Given the description of an element on the screen output the (x, y) to click on. 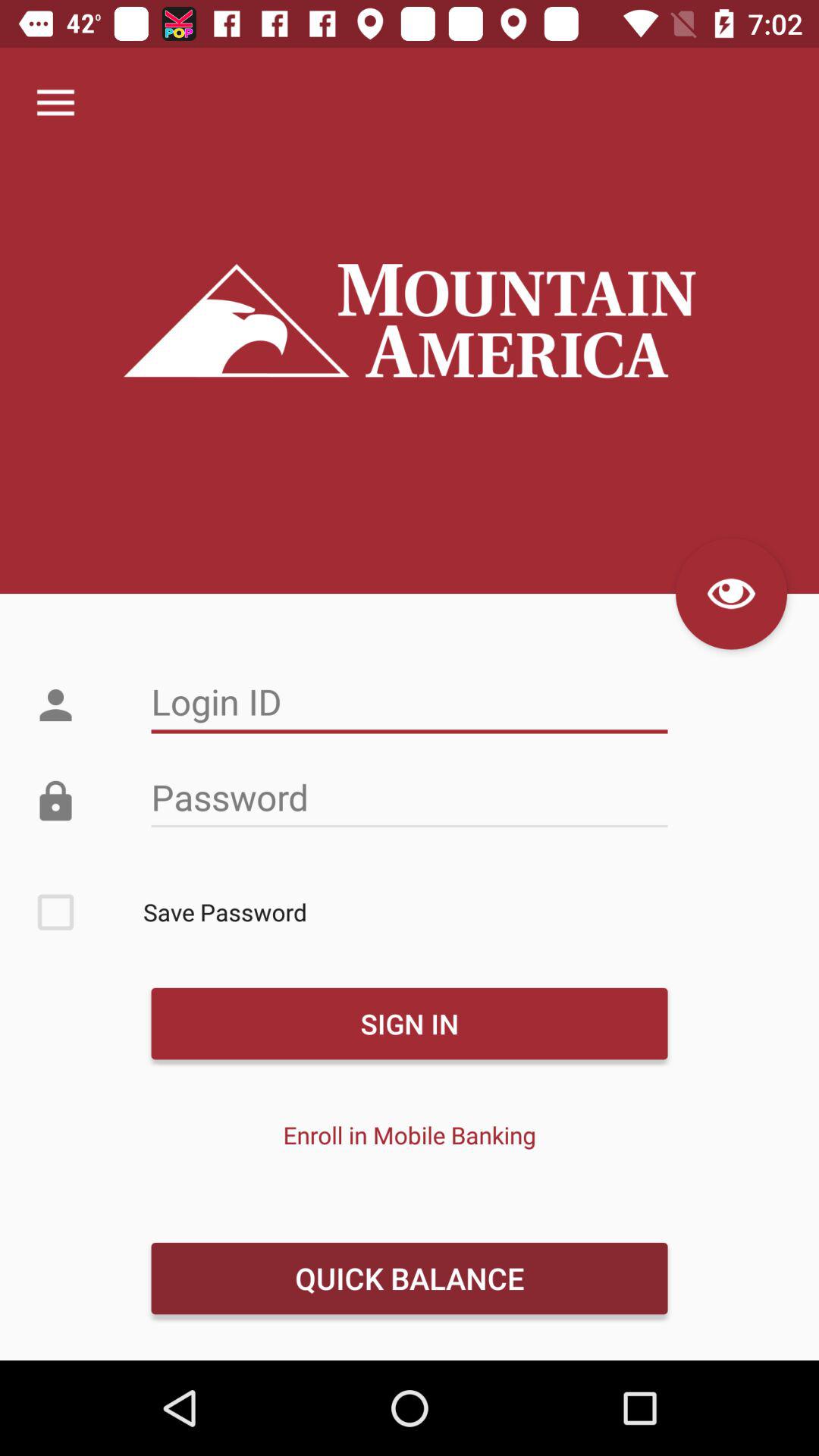
launch icon below save password icon (409, 1023)
